Given the description of an element on the screen output the (x, y) to click on. 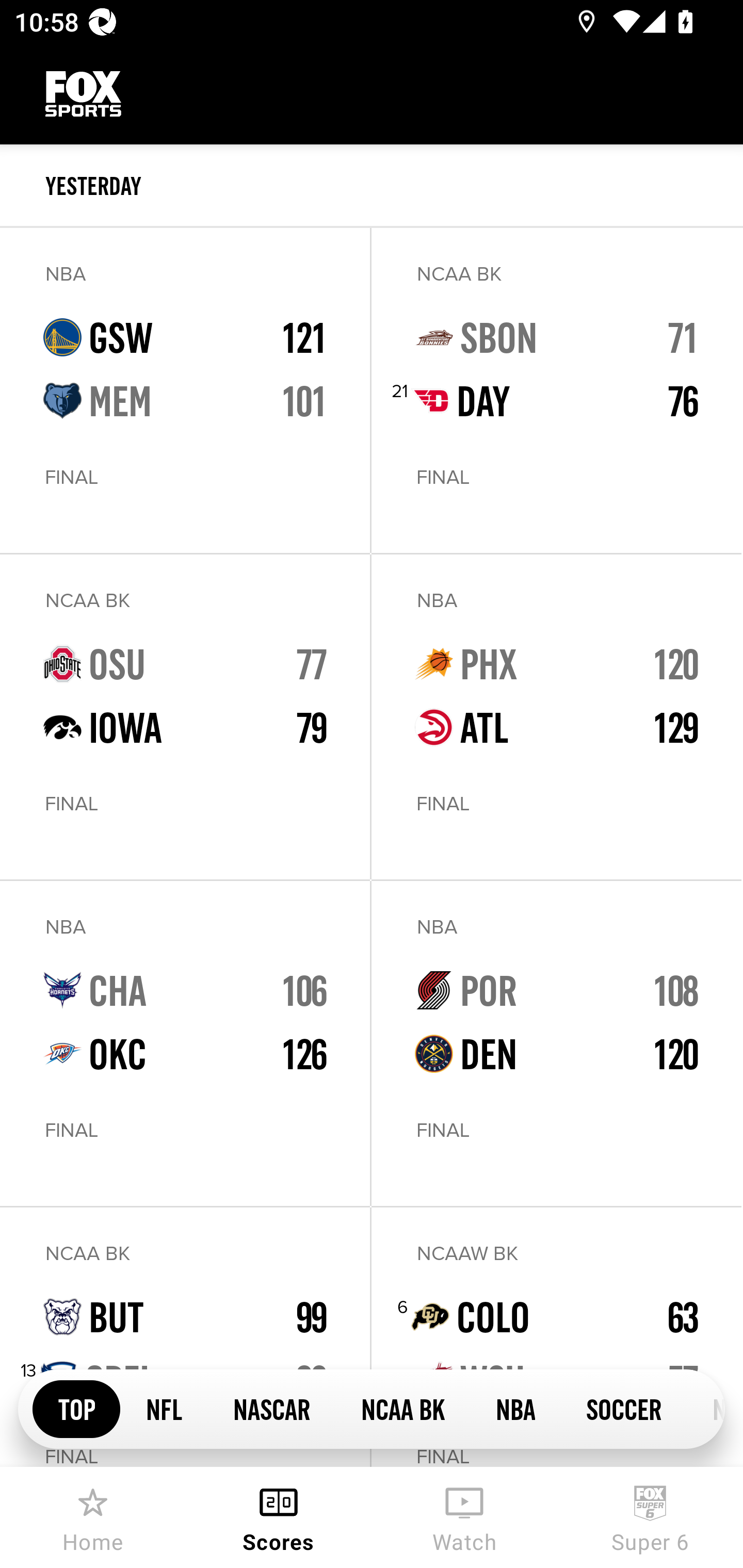
YESTERDAY (394, 185)
NBA GSW 121 MEM 101 FINAL (185, 390)
NCAA BK SBON 71 21 DAY 76 FINAL (556, 390)
NCAA BK OSU 77 IOWA 79 FINAL (185, 717)
NBA PHX 120 ATL 129 FINAL (556, 717)
NBA CHA 106 OKC 126 FINAL (185, 1043)
NBA POR 108 DEN 120 FINAL (556, 1043)
NCAA BK BUT 99 13 CREI 98 FINAL (185, 1337)
NCAAW BK 6 COLO 63 WSU 57 FINAL (556, 1337)
NFL (163, 1408)
NASCAR (271, 1408)
NCAA BK (402, 1408)
NBA (515, 1408)
SOCCER (623, 1408)
Home (92, 1517)
Watch (464, 1517)
Super 6 (650, 1517)
